Given the description of an element on the screen output the (x, y) to click on. 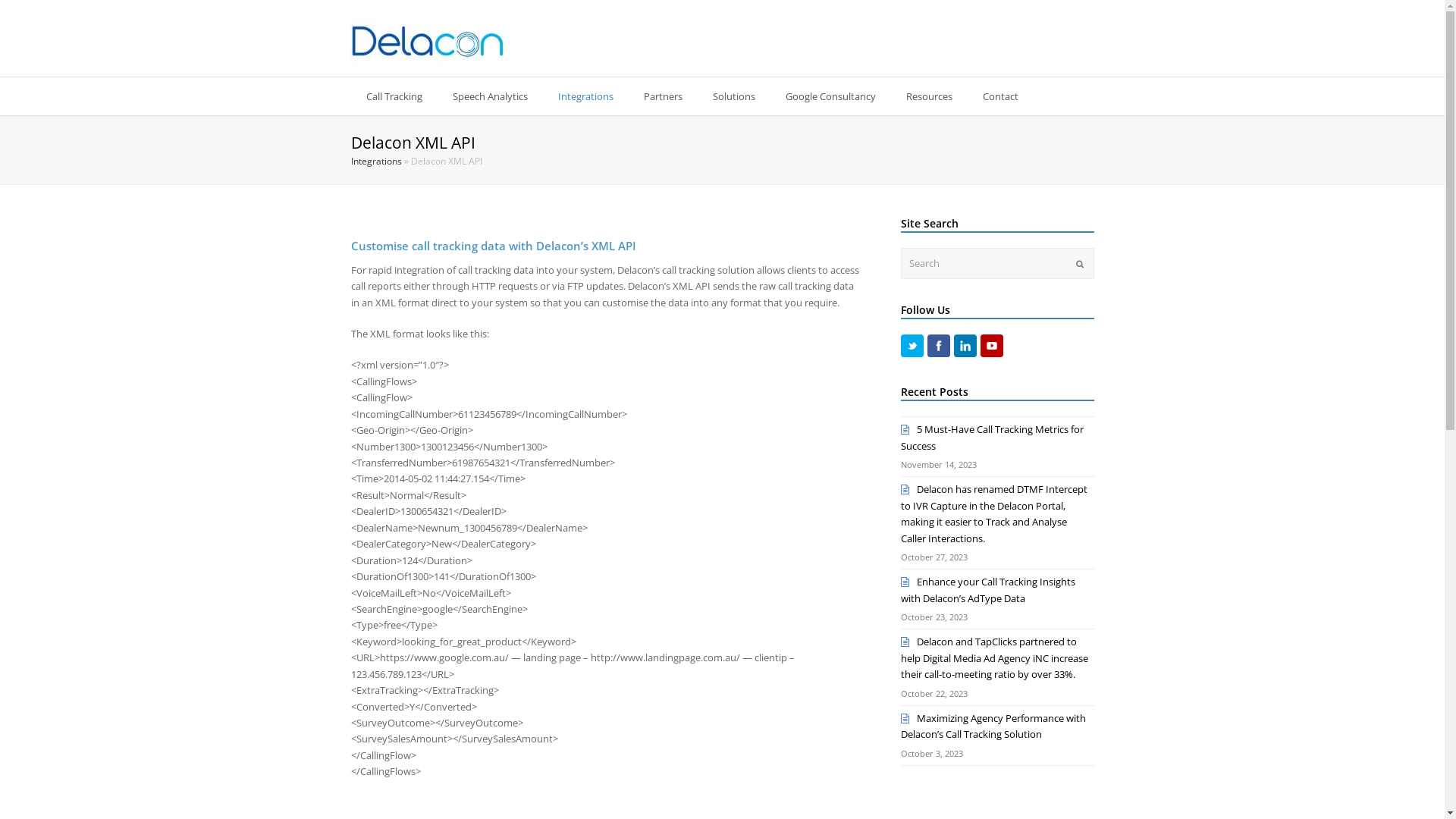
Integrations Element type: text (375, 160)
Call Tracking Element type: text (393, 96)
Solutions Element type: text (733, 96)
Resources Element type: text (928, 96)
Facebook Element type: hover (938, 345)
Partners Element type: text (661, 96)
Speech Analytics Element type: text (489, 96)
Submit Element type: text (1078, 263)
Contact Element type: text (1000, 96)
5 Must-Have Call Tracking Metrics for Success Element type: text (991, 436)
Twitter Element type: hover (911, 345)
Integrations Element type: text (585, 96)
Youtube Element type: hover (991, 345)
Delacon Australia Element type: hover (426, 40)
Google Consultancy Element type: text (830, 96)
LinkedIn Element type: hover (964, 345)
